Given the description of an element on the screen output the (x, y) to click on. 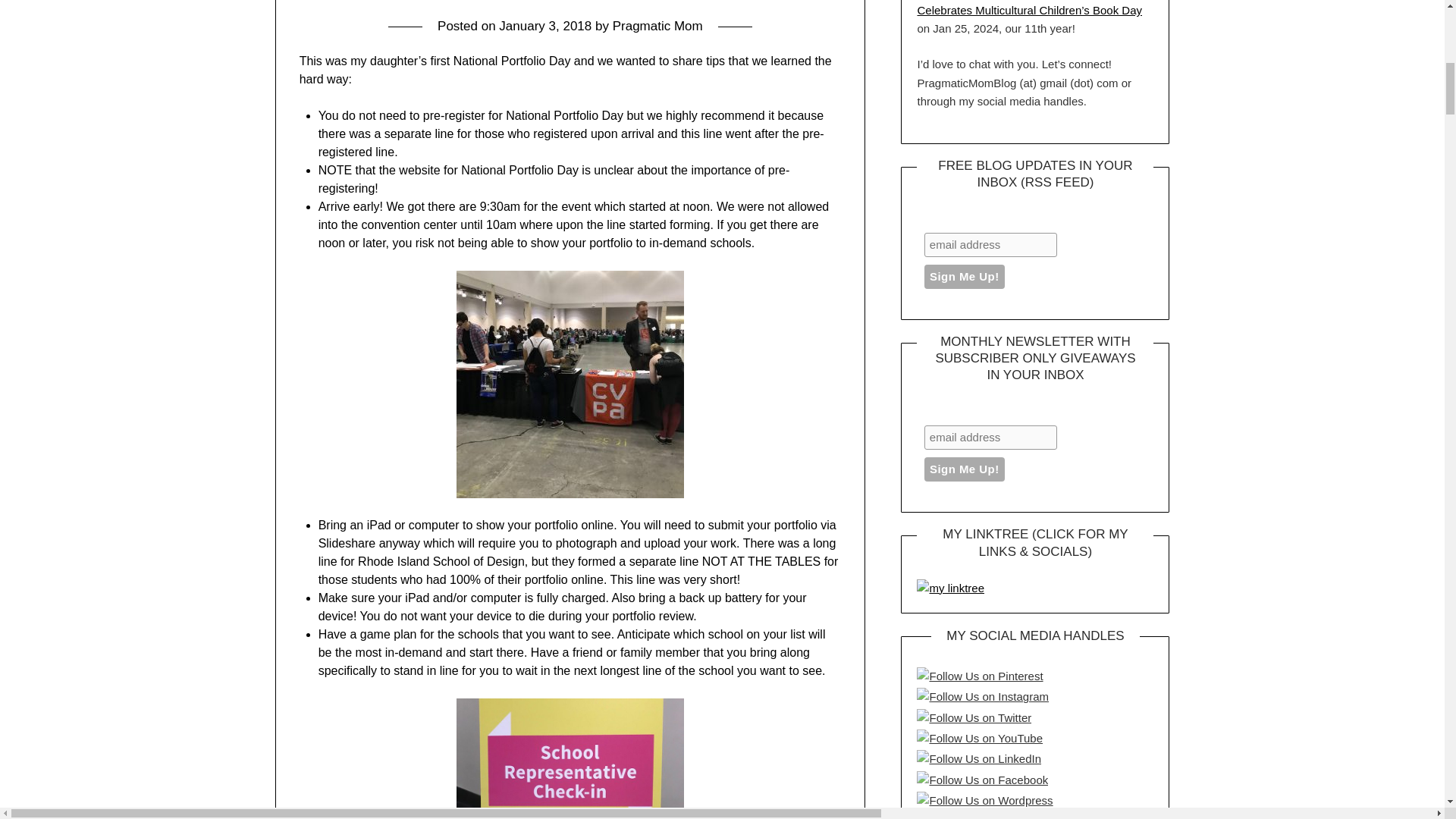
Follow Us on YouTube (979, 738)
Follow Us on Twitter (973, 718)
Sign Me Up!  (964, 469)
Sign Me Up! (964, 276)
Follow Us on Pinterest (979, 676)
Follow Us on Instagram (982, 696)
Follow Us on Wordpress (984, 800)
Follow Us on Facebook (982, 780)
Follow Us on LinkedIn (979, 759)
